Given the description of an element on the screen output the (x, y) to click on. 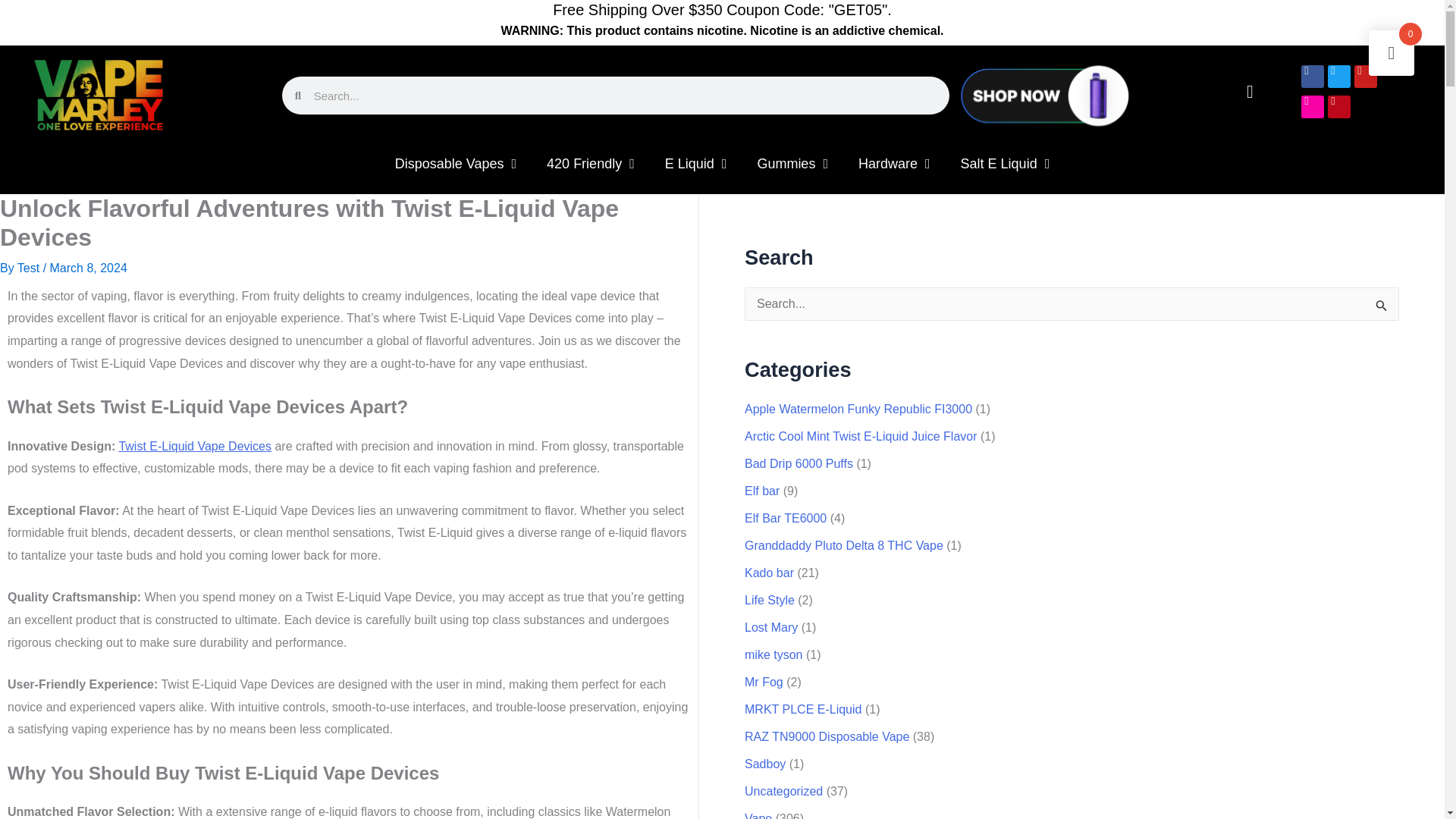
View all posts by Test (30, 267)
Search (1382, 308)
Search (1382, 308)
